Given the description of an element on the screen output the (x, y) to click on. 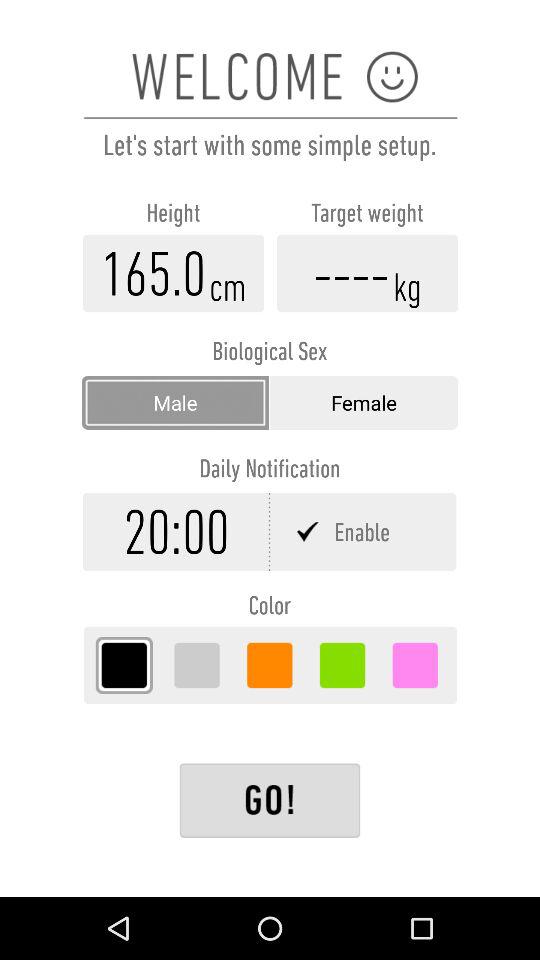
daily notification timer option (176, 531)
